Given the description of an element on the screen output the (x, y) to click on. 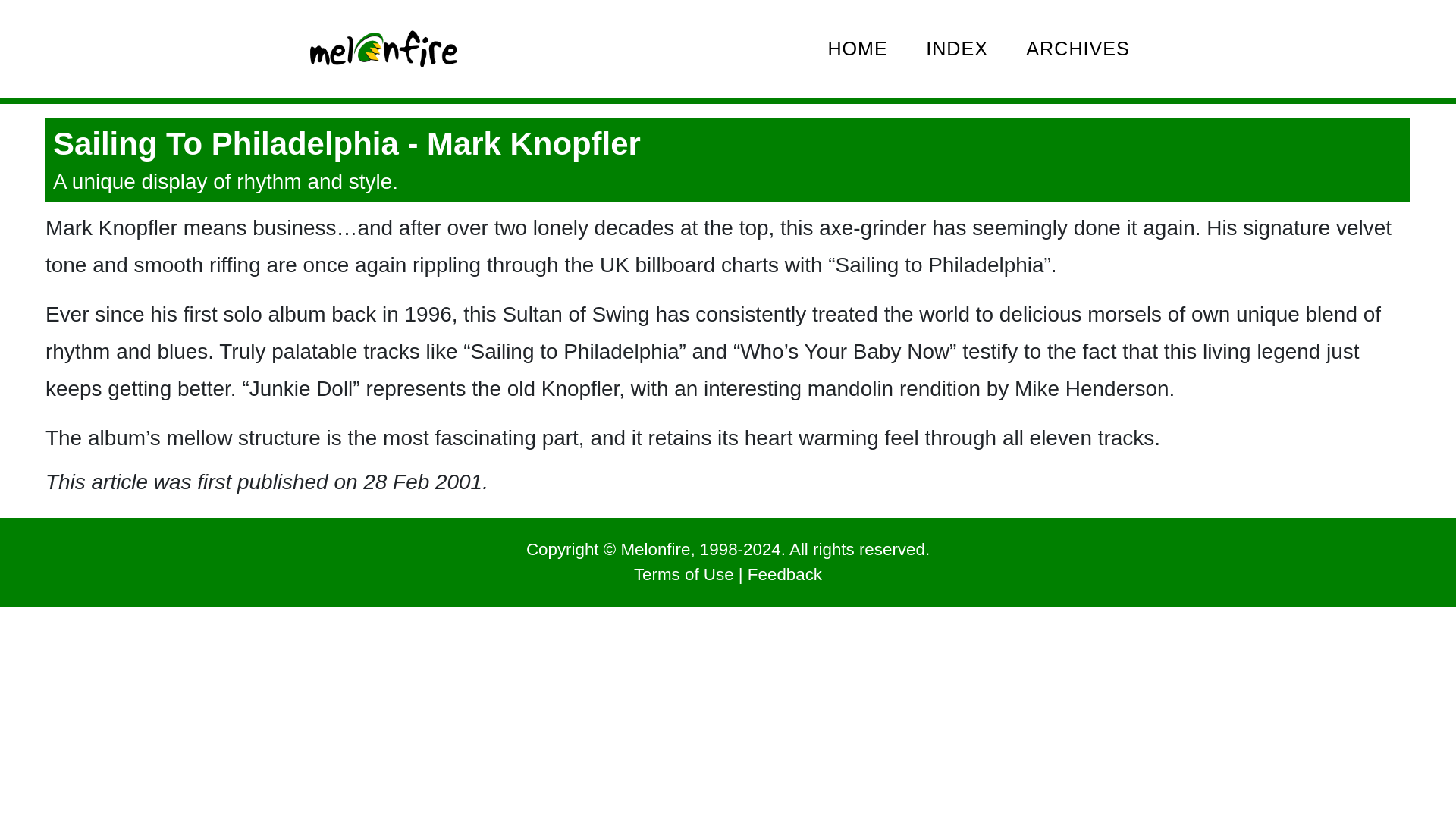
HOME (857, 48)
Feedback (785, 574)
ARCHIVES (1077, 48)
ARCHIVES (1077, 48)
INDEX (957, 48)
HOME (857, 48)
Terms of Use (683, 574)
INDEX (957, 48)
